Given the description of an element on the screen output the (x, y) to click on. 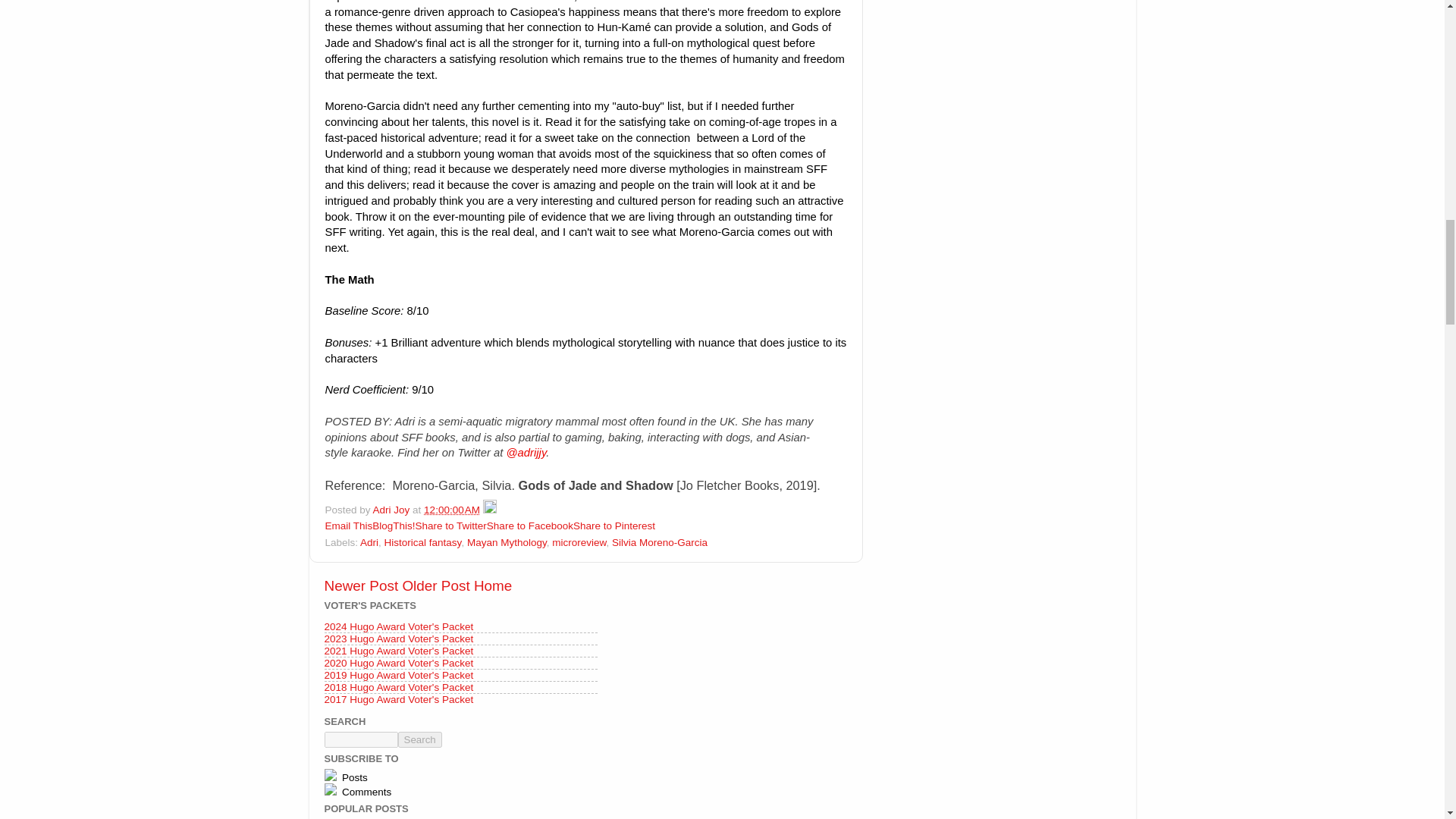
Silvia Moreno-Garcia (659, 542)
Mayan Mythology (507, 542)
Share to Twitter (450, 525)
Home (493, 585)
permanent link (451, 509)
search (360, 739)
Share to Twitter (450, 525)
Newer Post (361, 585)
Newer Post (361, 585)
Older Post (434, 585)
Share to Facebook (529, 525)
Share to Pinterest (614, 525)
Older Post (434, 585)
Adri Joy (392, 509)
